Given the description of an element on the screen output the (x, y) to click on. 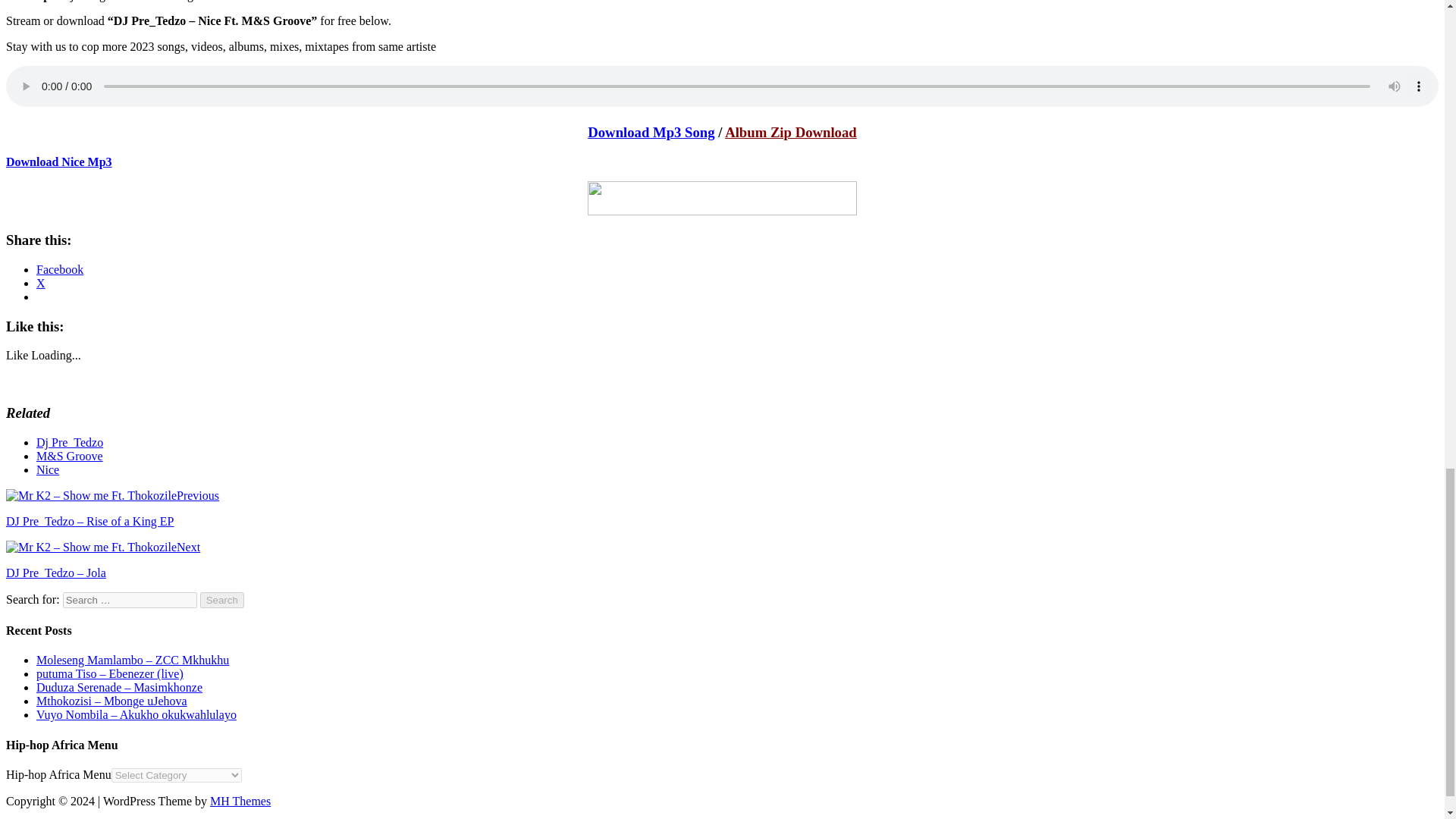
Download Mp3 Song (651, 132)
Facebook (59, 269)
Search (222, 600)
Album Zip Download (791, 132)
Search (222, 600)
Download Nice Mp3 (58, 160)
Nice (47, 469)
Click to share on Facebook (59, 269)
